Given the description of an element on the screen output the (x, y) to click on. 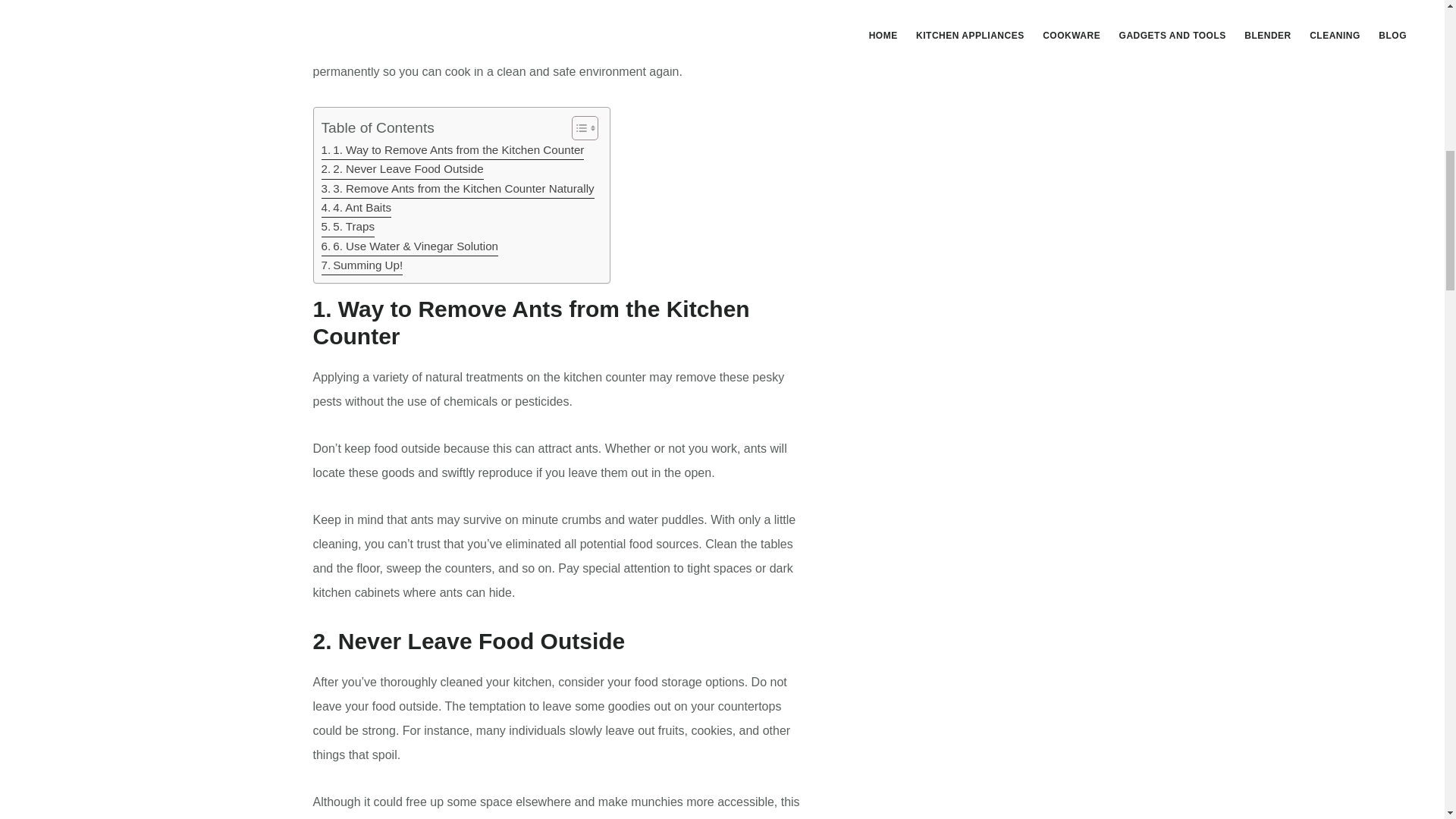
Summing Up! (362, 265)
Summing Up! (362, 265)
4. Ant Baits (356, 208)
3. Remove Ants from the Kitchen Counter Naturally (457, 189)
4. Ant Baits (356, 208)
2. Never Leave Food Outside (402, 169)
1. Way to Remove Ants from the Kitchen Counter (453, 149)
3. Remove Ants from the Kitchen Counter Naturally (457, 189)
2. Never Leave Food Outside (402, 169)
How to Hook Up a Portable Dishwasher Permanently? (1011, 3)
5. Traps (348, 226)
5. Traps (348, 226)
1. Way to Remove Ants from the Kitchen Counter (453, 149)
